Given the description of an element on the screen output the (x, y) to click on. 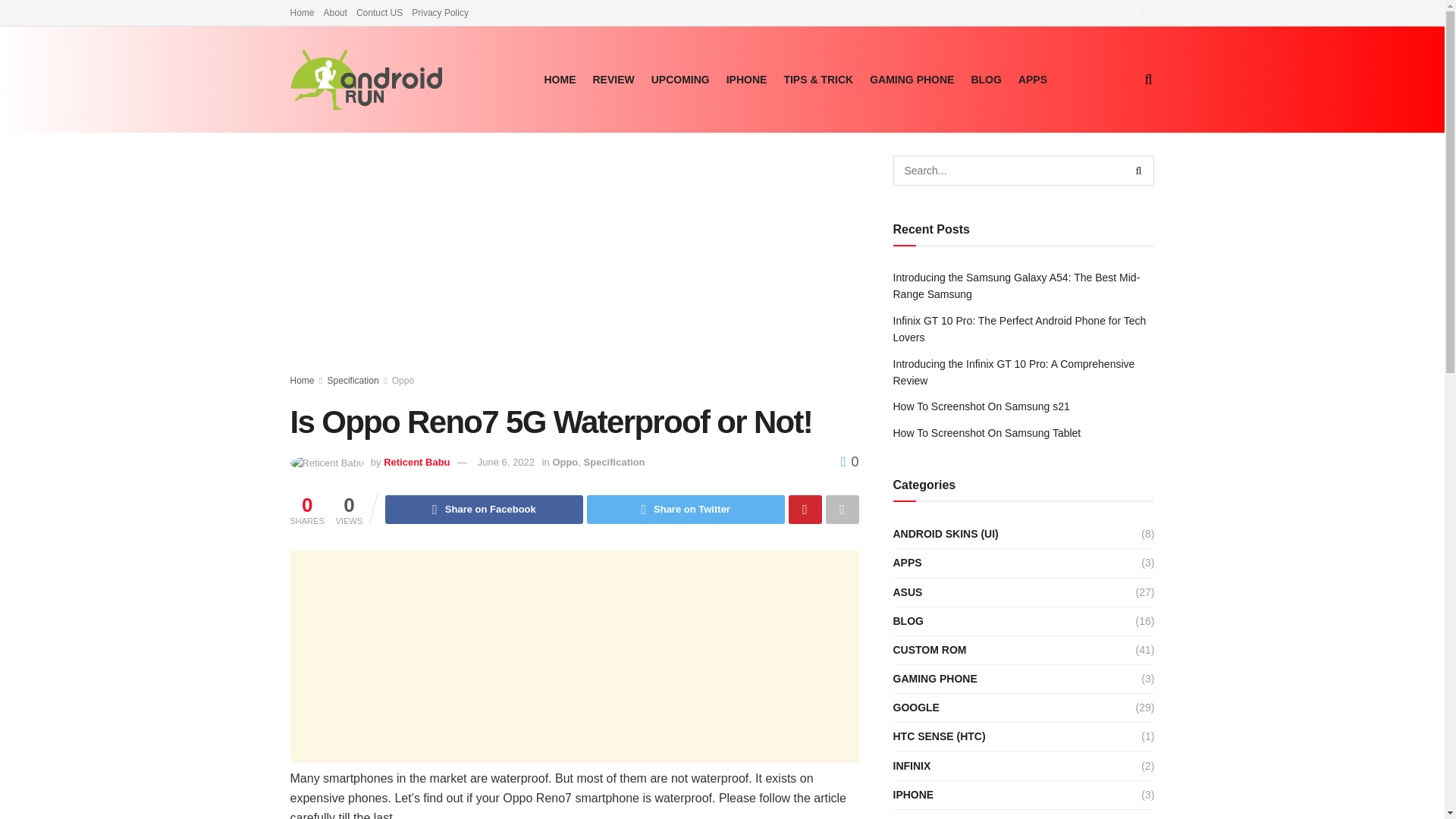
Oppo (564, 461)
Privacy Policy (440, 12)
Share on Facebook (484, 509)
Contuct US (379, 12)
BLOG (986, 79)
Home (301, 380)
REVIEW (613, 79)
UPCOMING (680, 79)
HOME (560, 79)
Reticent Babu (416, 461)
